Given the description of an element on the screen output the (x, y) to click on. 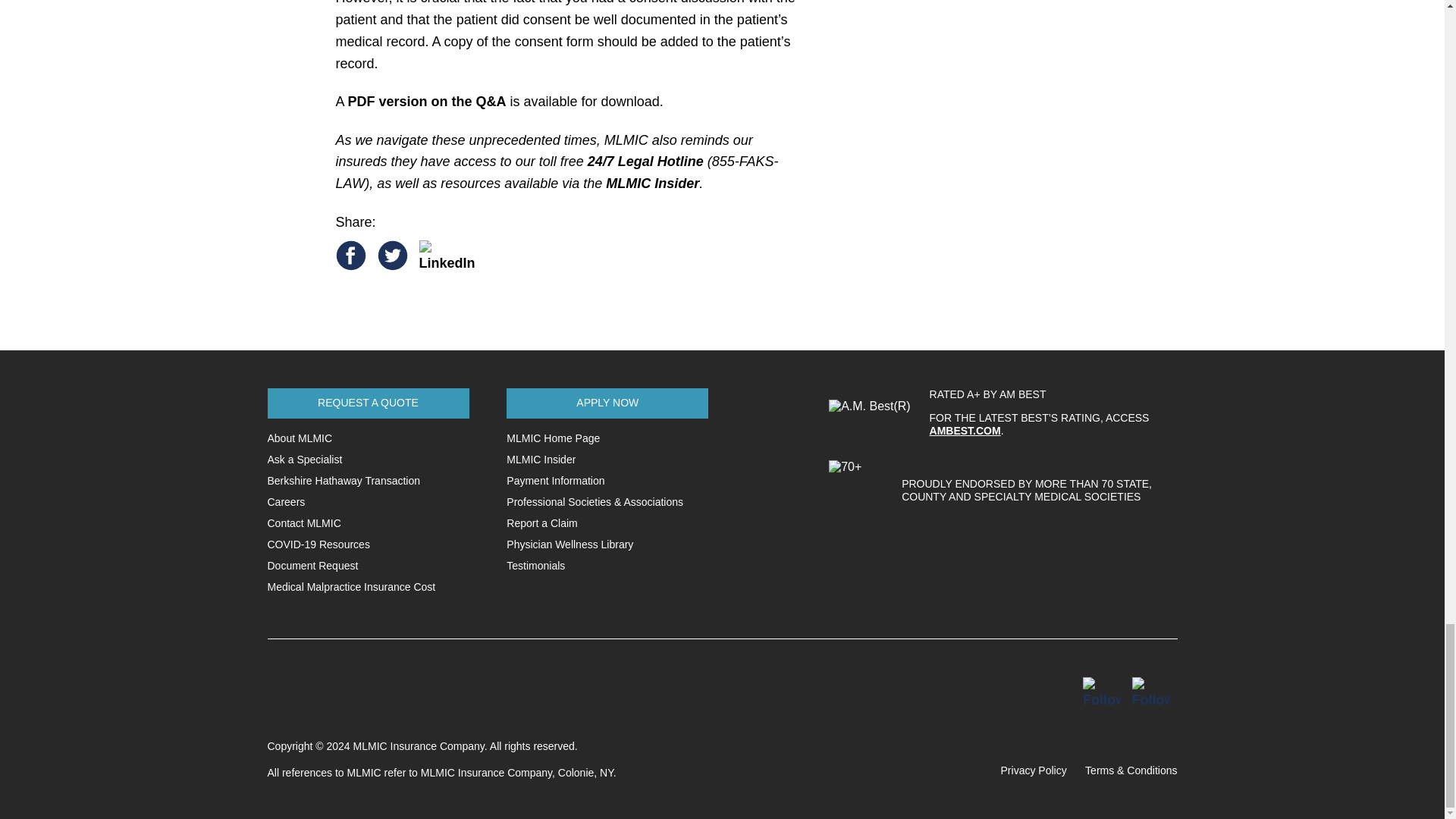
Berkshire Hathaway Transaction (343, 480)
About MLMIC (298, 438)
Ask a Specialist (304, 459)
MLMIC Insider (651, 183)
REQUEST A QUOTE (367, 403)
Contact MLMIC (303, 522)
Careers (285, 501)
